Given the description of an element on the screen output the (x, y) to click on. 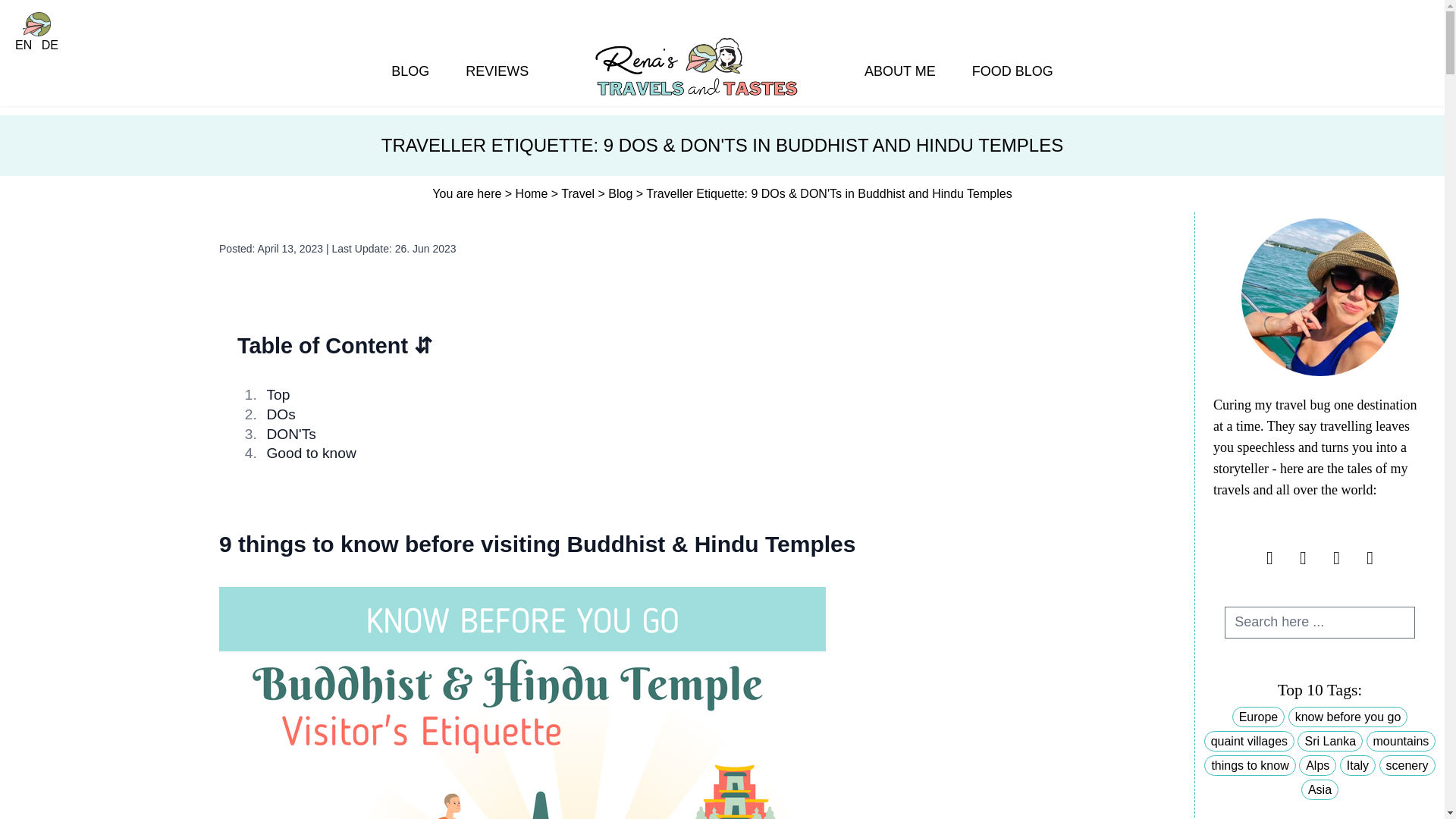
ABOUT ME (899, 70)
Blog (621, 193)
DON'Ts (290, 433)
Home (533, 193)
BLOG (409, 70)
DE (50, 45)
FOOD BLOG (1012, 70)
Good to know (310, 453)
REVIEWS (496, 70)
Top (277, 394)
EN (25, 45)
DOs (280, 414)
